Given the description of an element on the screen output the (x, y) to click on. 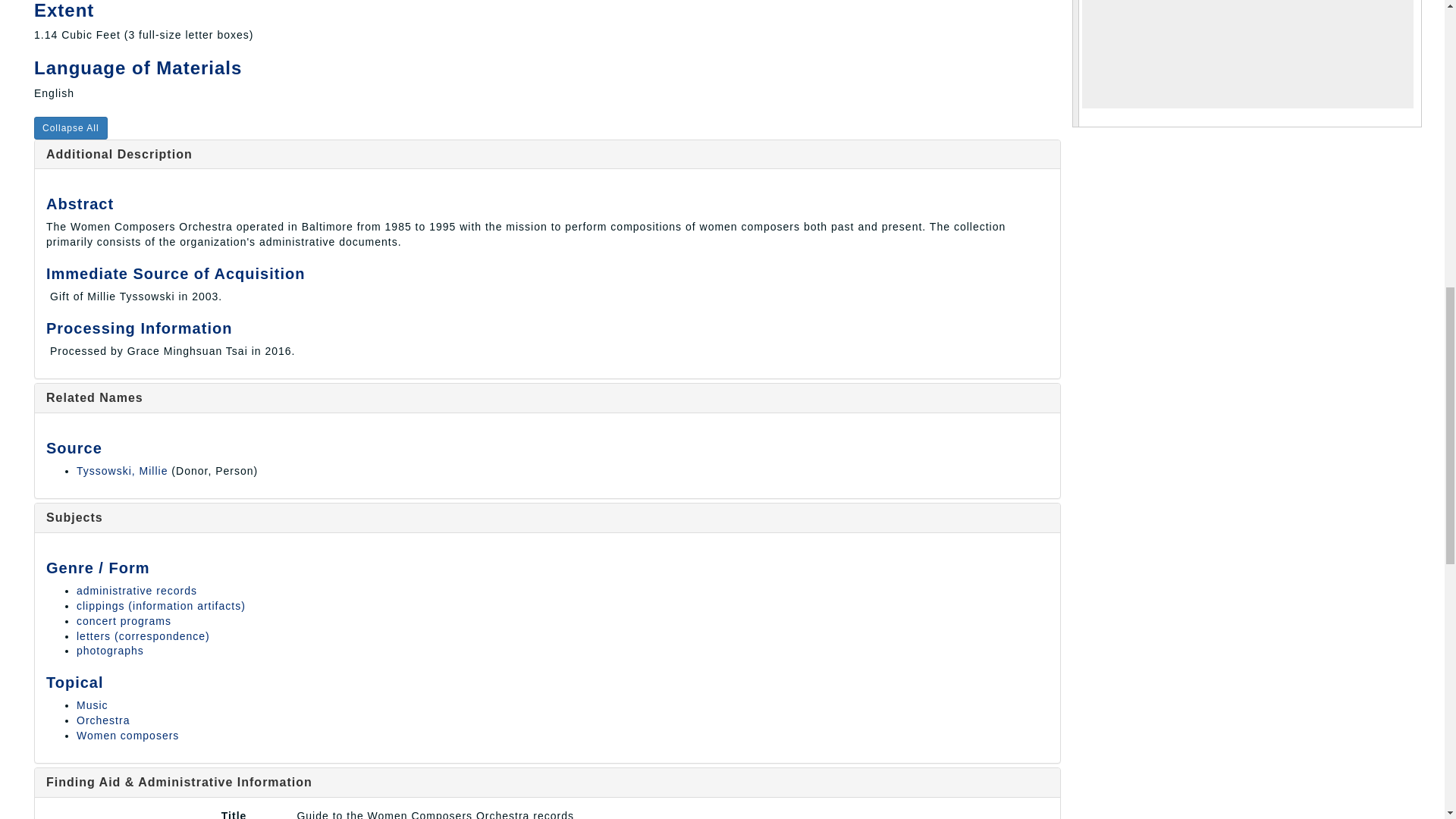
Subjects (74, 517)
Additional Description (119, 154)
Collapse All (70, 128)
concert programs (124, 621)
Related Names (94, 397)
Tyssowski, Millie (122, 470)
Orchestra (103, 720)
administrative records (136, 590)
Music (92, 705)
Women composers (128, 735)
photographs (110, 650)
